Given the description of an element on the screen output the (x, y) to click on. 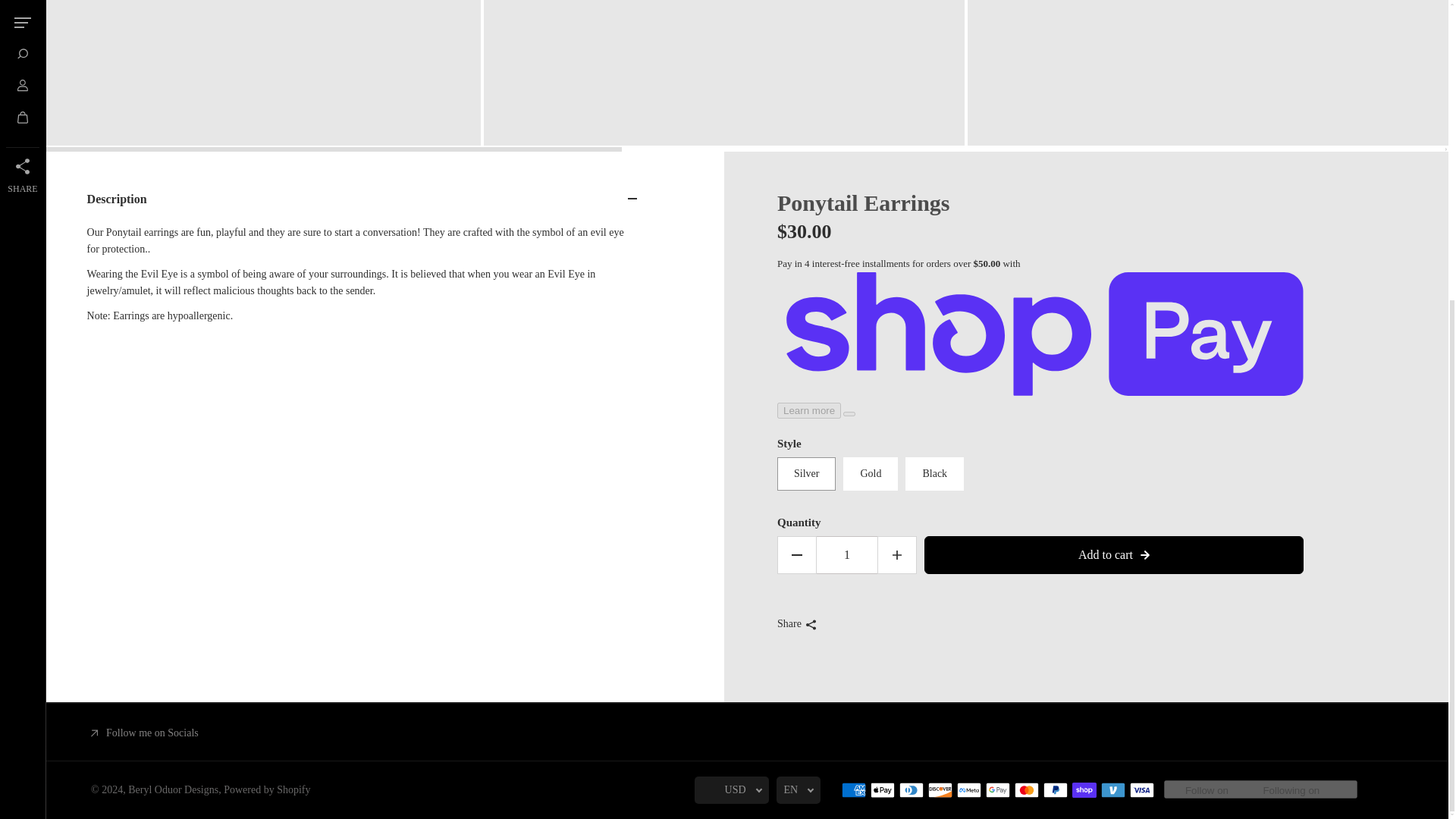
American Express (853, 789)
Silver (806, 473)
Apple Pay (882, 789)
Meta Pay (968, 789)
1 (846, 555)
Mastercard (1026, 789)
Venmo (1112, 789)
Gold (870, 473)
PayPal (1055, 789)
Silver (806, 473)
